Given the description of an element on the screen output the (x, y) to click on. 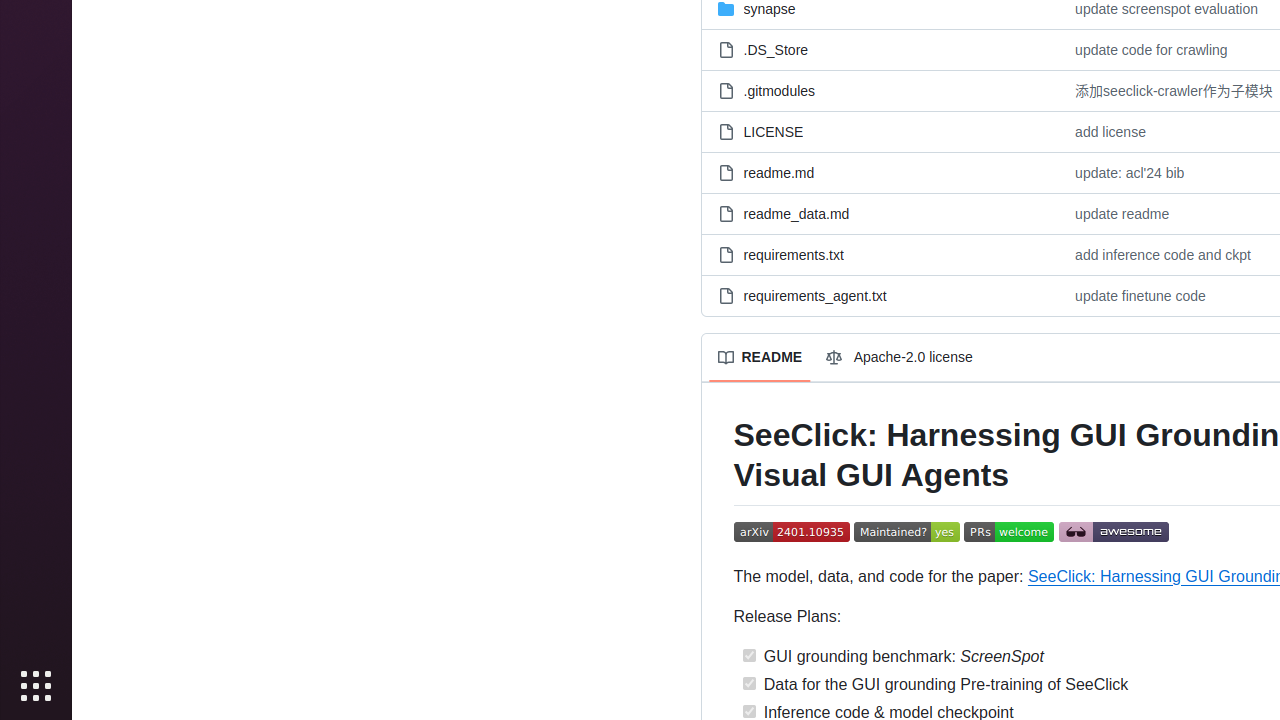
.DS_Store, (File) Element type: table-cell (880, 49)
requirements_agent.txt, (File) Element type: link (815, 295)
PR's Welcome Element type: link (1009, 533)
arXiv Element type: link (791, 533)
.gitmodules, (File) Element type: link (779, 90)
